Given the description of an element on the screen output the (x, y) to click on. 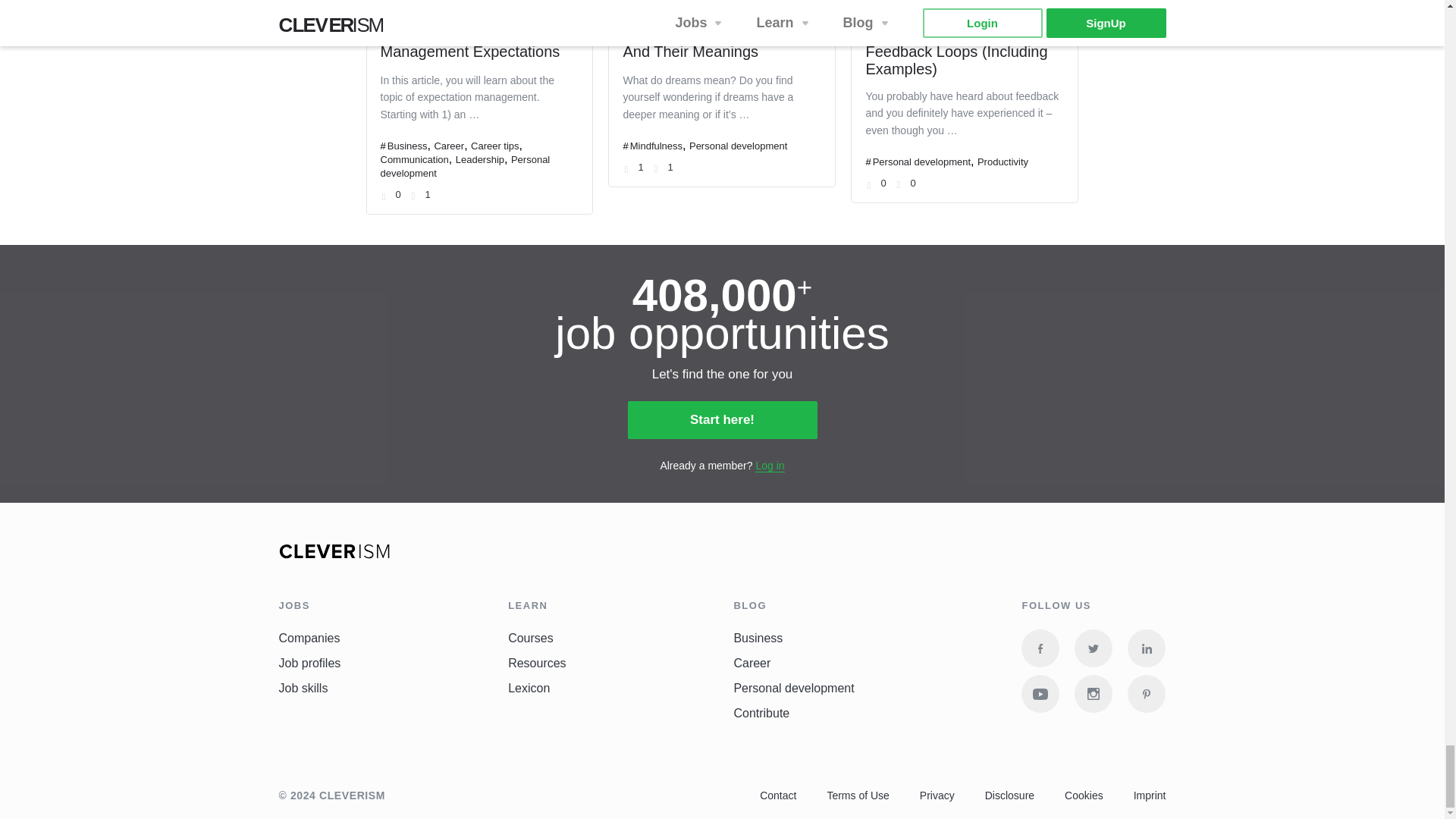
Communication (414, 159)
Career (448, 145)
Personal development (465, 166)
Career tips (494, 145)
Ways to Effectively Set Management Expectations (470, 42)
Mindfulness (656, 145)
10 Most Common Dreams And Their Meanings (711, 42)
Business (407, 145)
Leadership (479, 159)
